Given the description of an element on the screen output the (x, y) to click on. 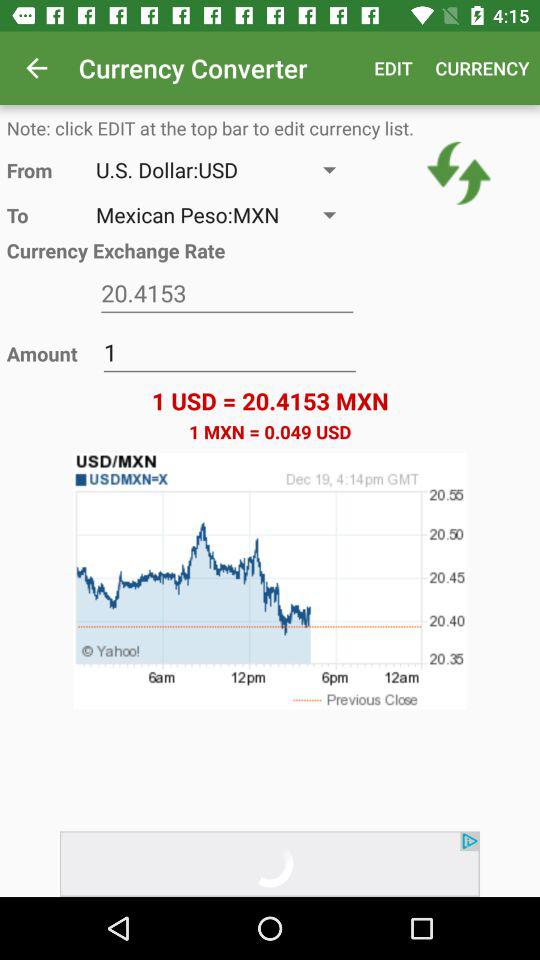
launch app to the left of currency converter (36, 68)
